Given the description of an element on the screen output the (x, y) to click on. 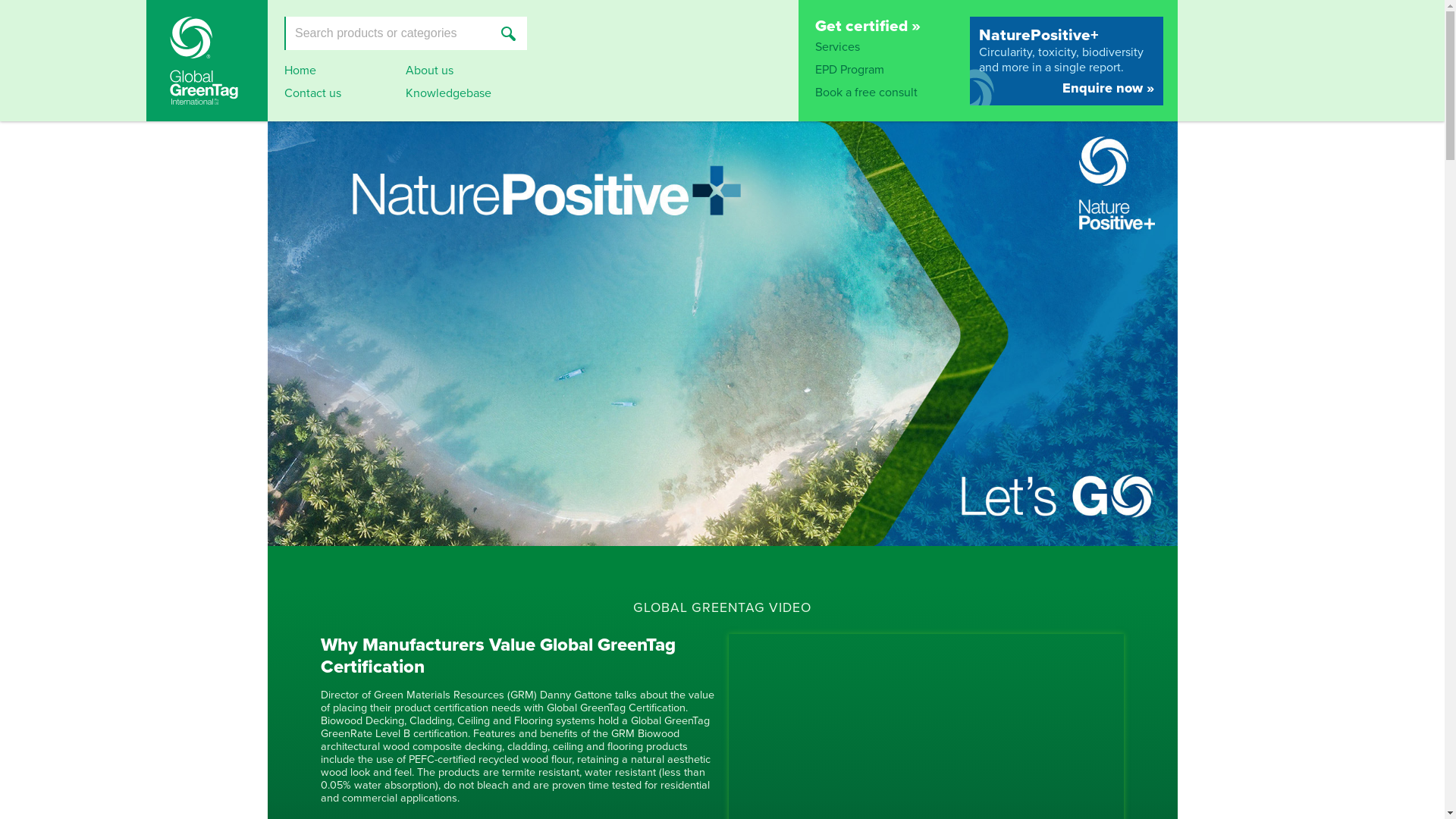
Services Element type: text (836, 46)
NaturePositive+ Element type: text (1066, 34)
EPD Program Element type: text (848, 69)
About us Element type: text (428, 70)
Home Element type: text (299, 70)
Knowledgebase Element type: text (447, 92)
Book a free consult Element type: text (865, 92)
Search Element type: text (508, 33)
Contact us Element type: text (311, 92)
